Given the description of an element on the screen output the (x, y) to click on. 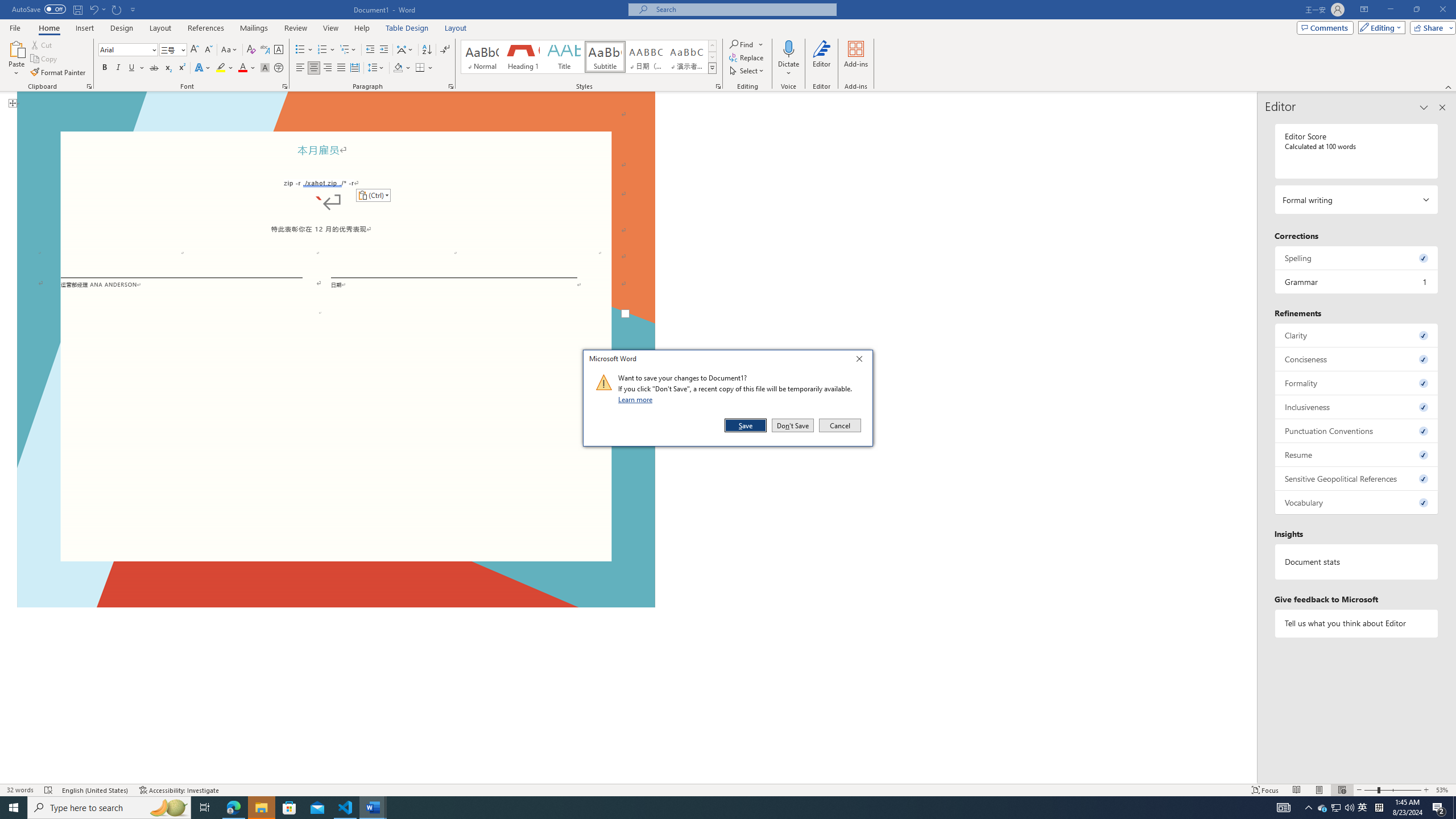
Asian Layout (405, 49)
Font Color (246, 67)
Title (564, 56)
Borders (424, 67)
Format Painter (58, 72)
Language English (United States) (95, 790)
Help (361, 28)
Class: NetUIScrollBar (1251, 437)
Editor (821, 58)
Subtitle (605, 56)
Bullets (300, 49)
Save (746, 425)
Clear Formatting (250, 49)
